Given the description of an element on the screen output the (x, y) to click on. 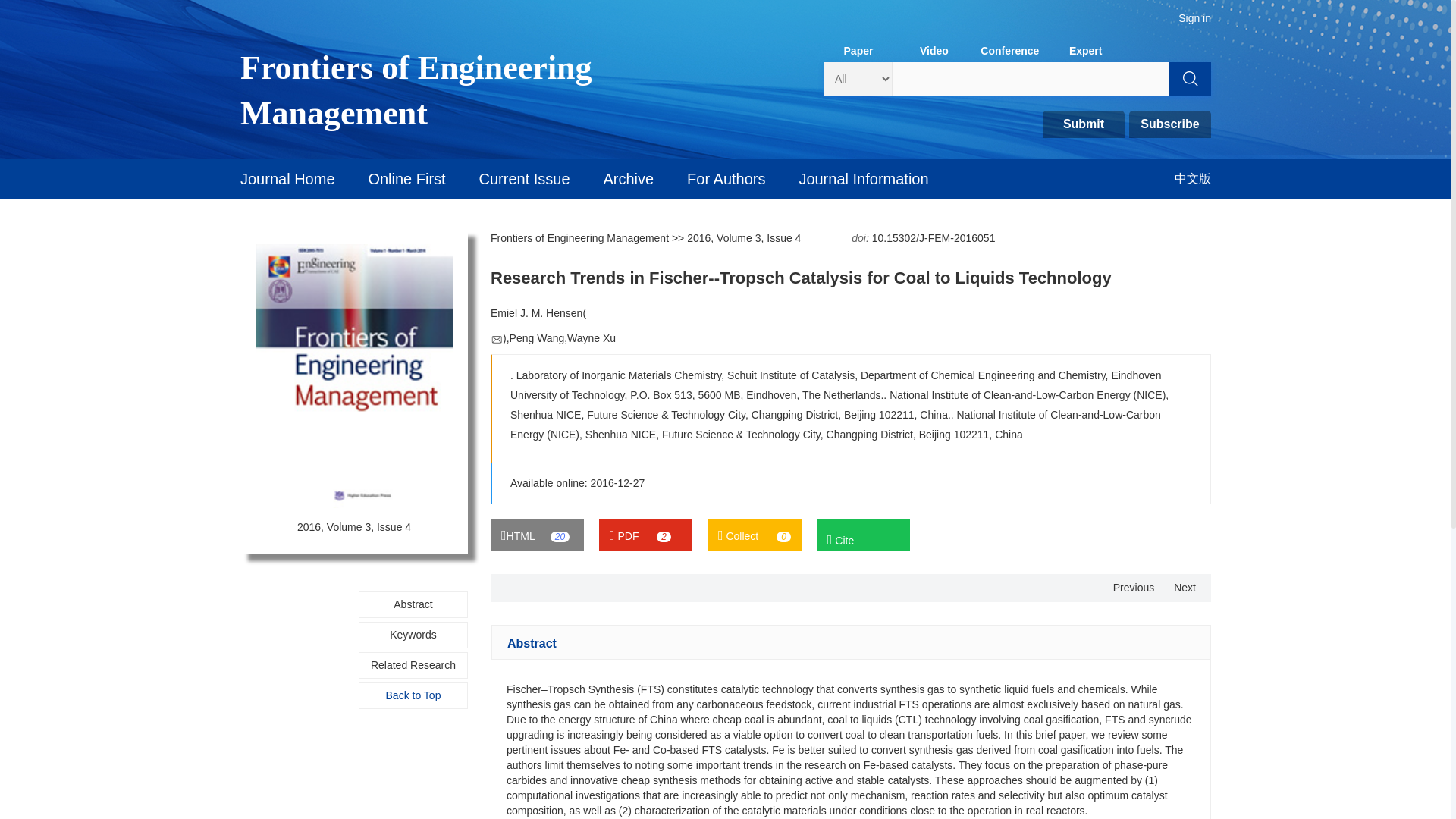
Peng Wang (536, 338)
Archive (628, 178)
Collect 0 (754, 535)
Cite (863, 535)
Frontiers of Engineering Management (580, 237)
PDF 2 (645, 535)
Abstract (412, 604)
For Authors (726, 178)
Keywords (412, 634)
Back to Top (412, 695)
HTML20 (536, 535)
Sign in (1194, 18)
Online First (406, 178)
Journal Home (287, 178)
